Given the description of an element on the screen output the (x, y) to click on. 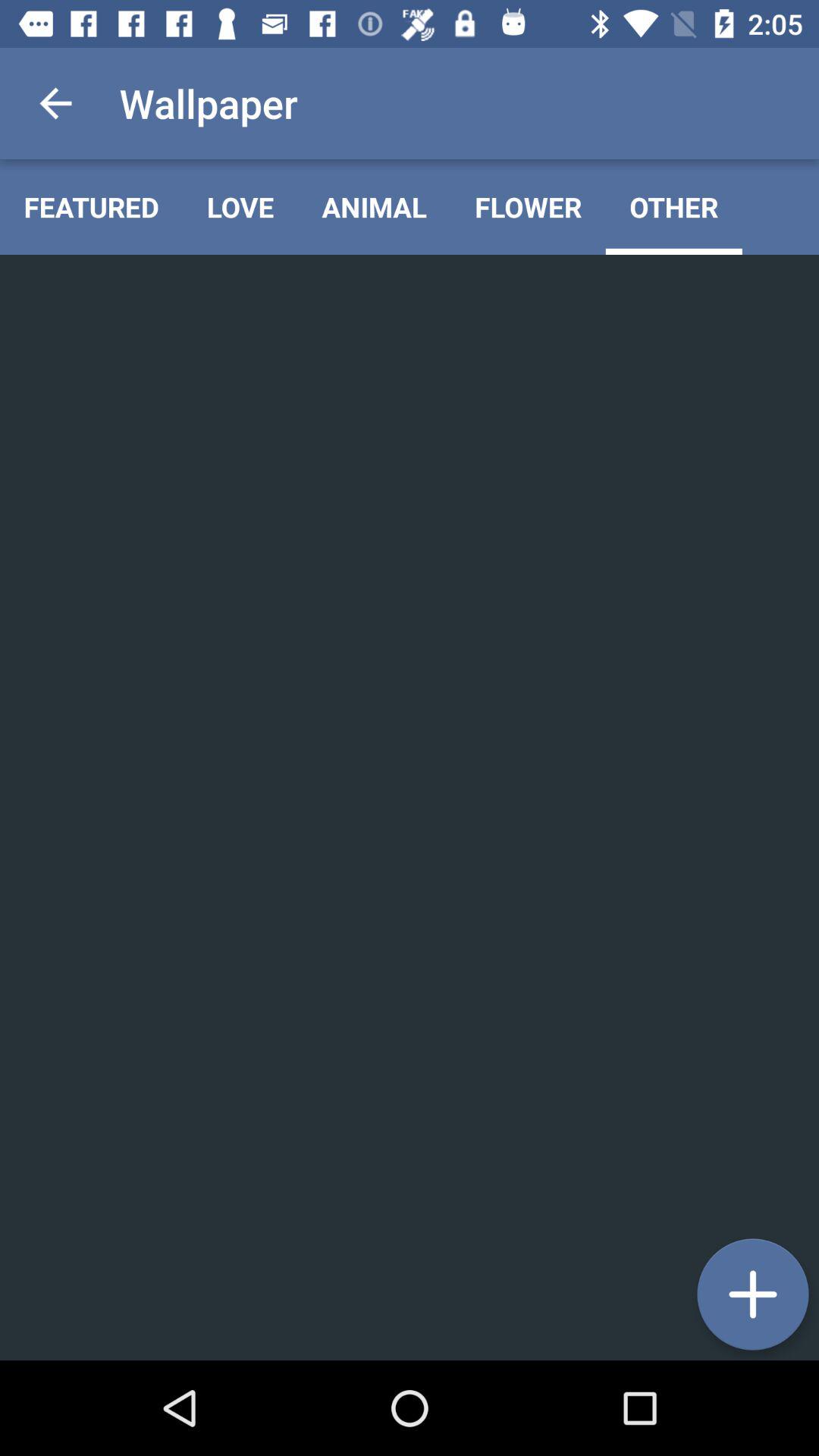
turn off icon to the left of the love icon (91, 206)
